Given the description of an element on the screen output the (x, y) to click on. 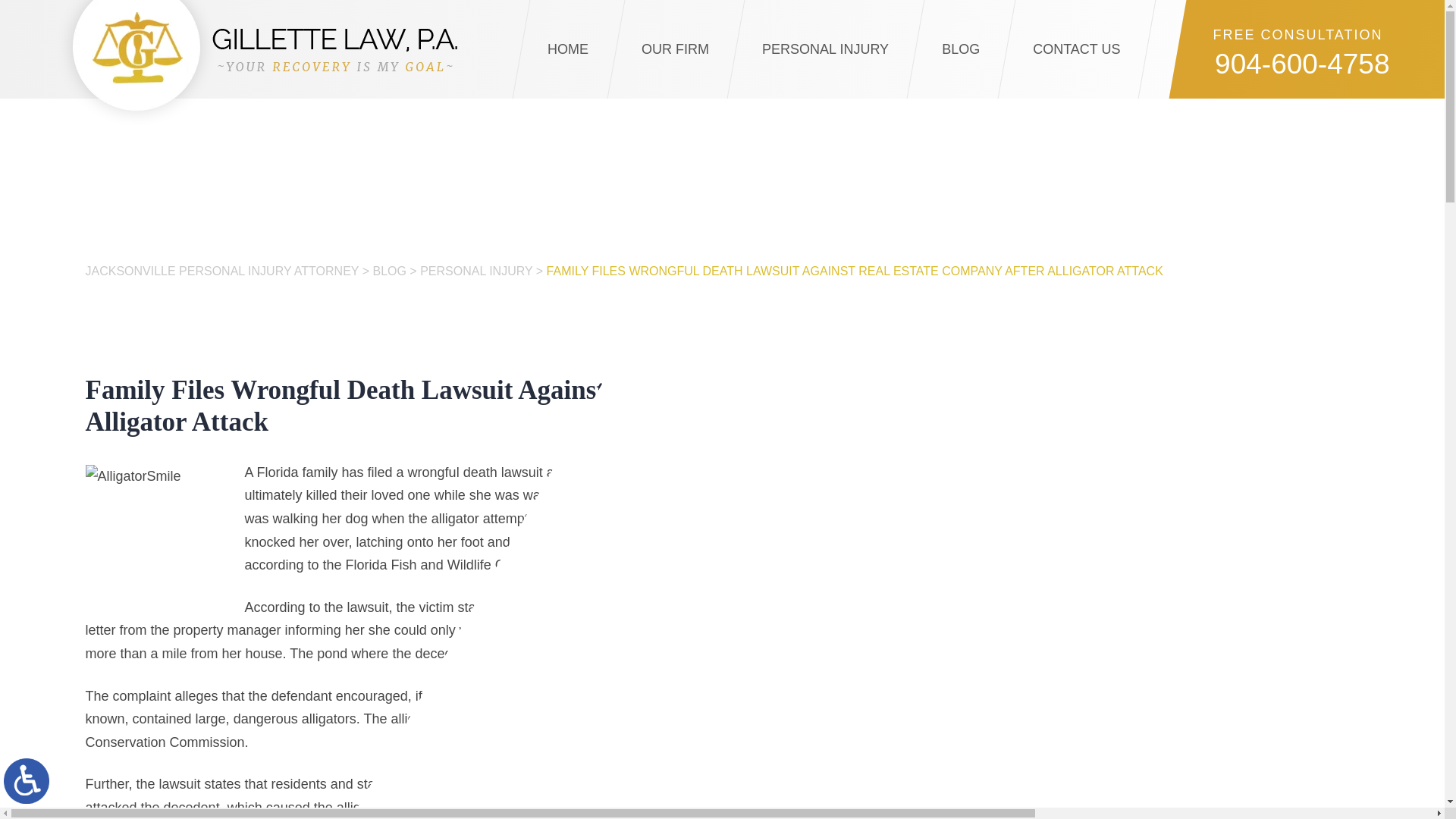
PERSONAL INJURY (825, 49)
OUR FIRM (674, 49)
904-600-4758 (1281, 65)
Switch to ADA Accessible Theme (26, 780)
AlligatorSmile (159, 540)
HOME (567, 49)
